Given the description of an element on the screen output the (x, y) to click on. 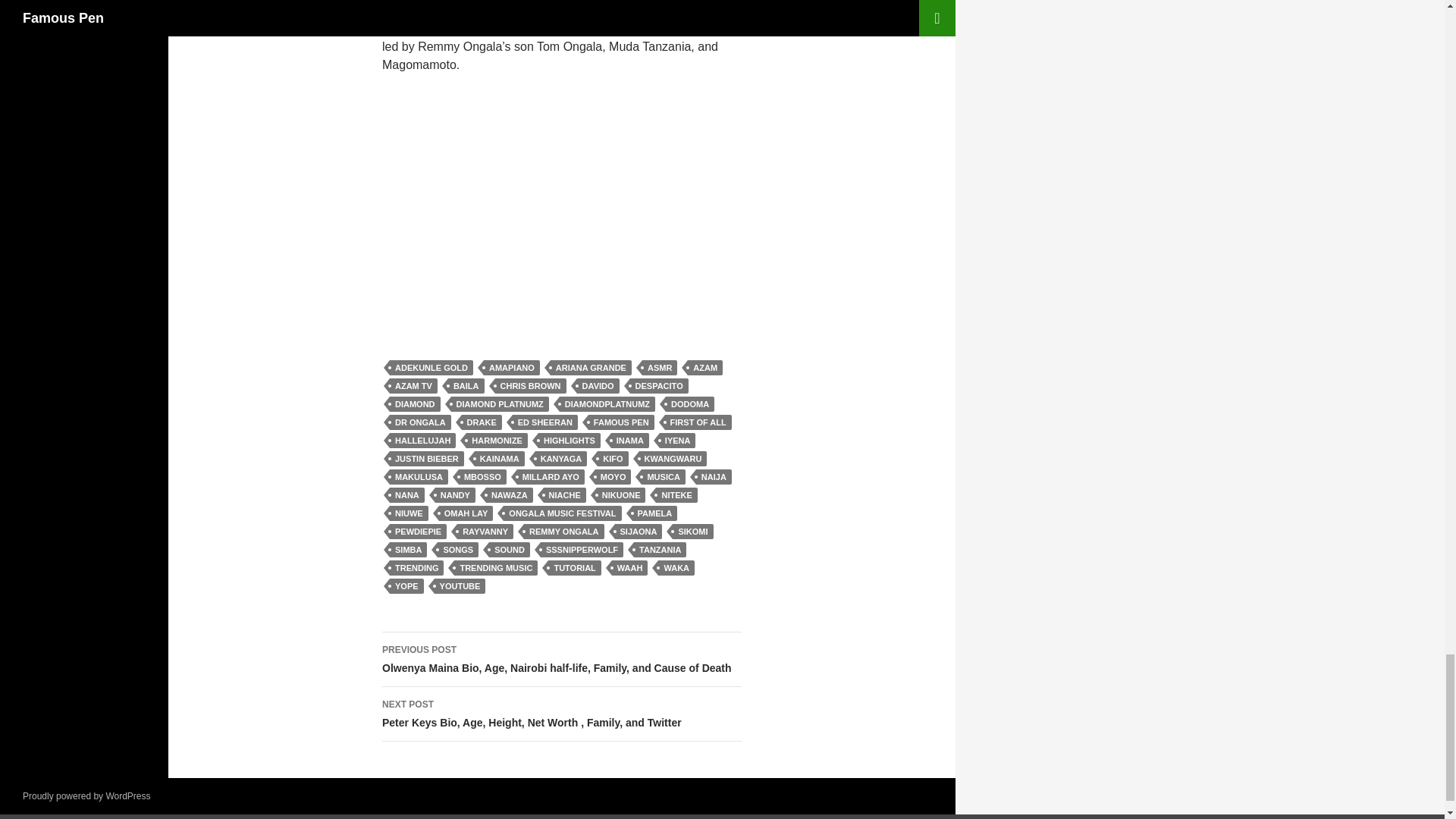
KAINAMA (499, 458)
DIAMOND PLATNUMZ (499, 403)
JUSTIN BIEBER (427, 458)
ARIANA GRANDE (590, 367)
FAMOUS PEN (620, 421)
FIRST OF ALL (698, 421)
KANYAGA (561, 458)
KIFO (611, 458)
AZAM TV (414, 385)
BAILA (466, 385)
